Given the description of an element on the screen output the (x, y) to click on. 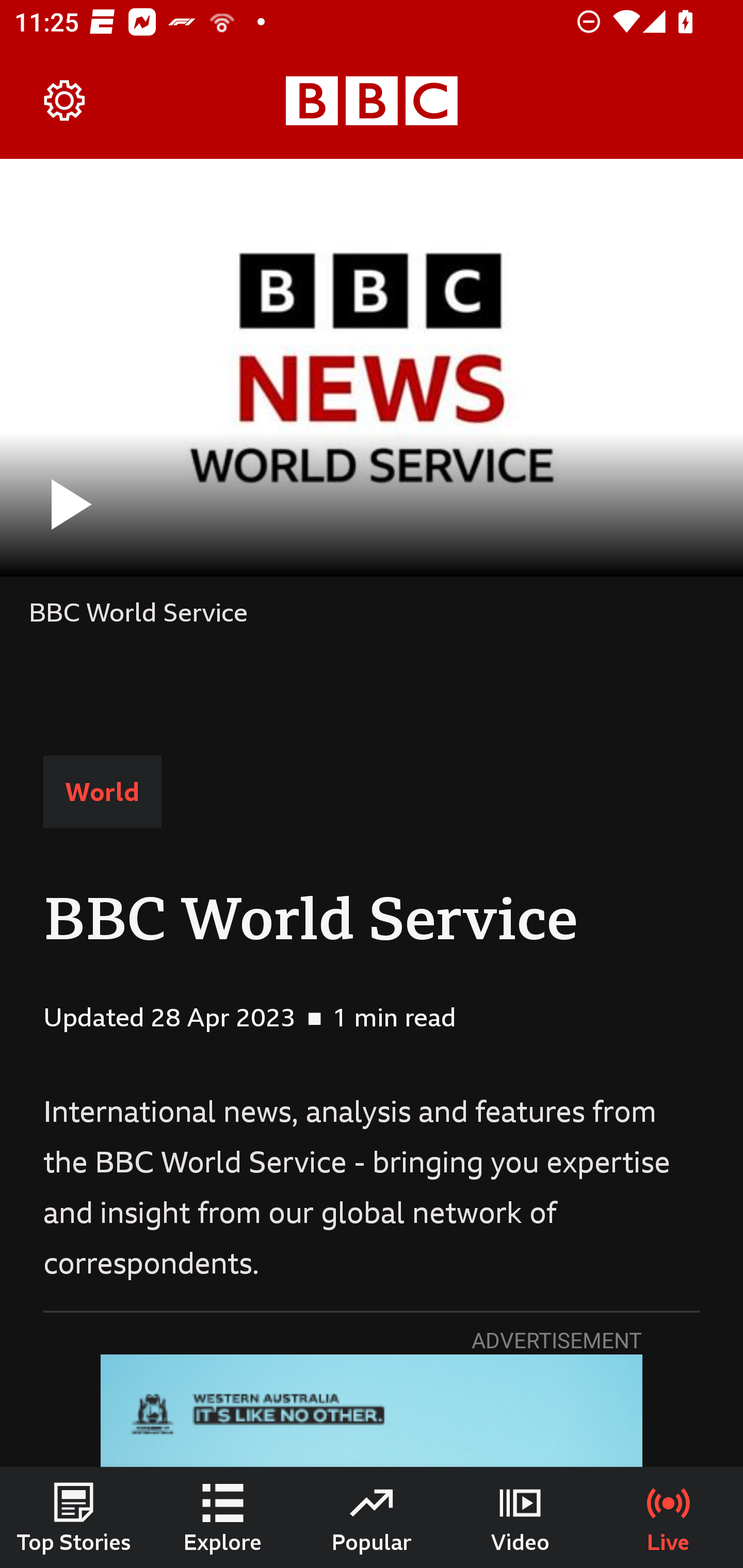
Settings (64, 100)
play fullscreen (371, 367)
World (102, 791)
Advertisement (371, 1410)
Top Stories (74, 1517)
Explore (222, 1517)
Popular (371, 1517)
Video (519, 1517)
